Given the description of an element on the screen output the (x, y) to click on. 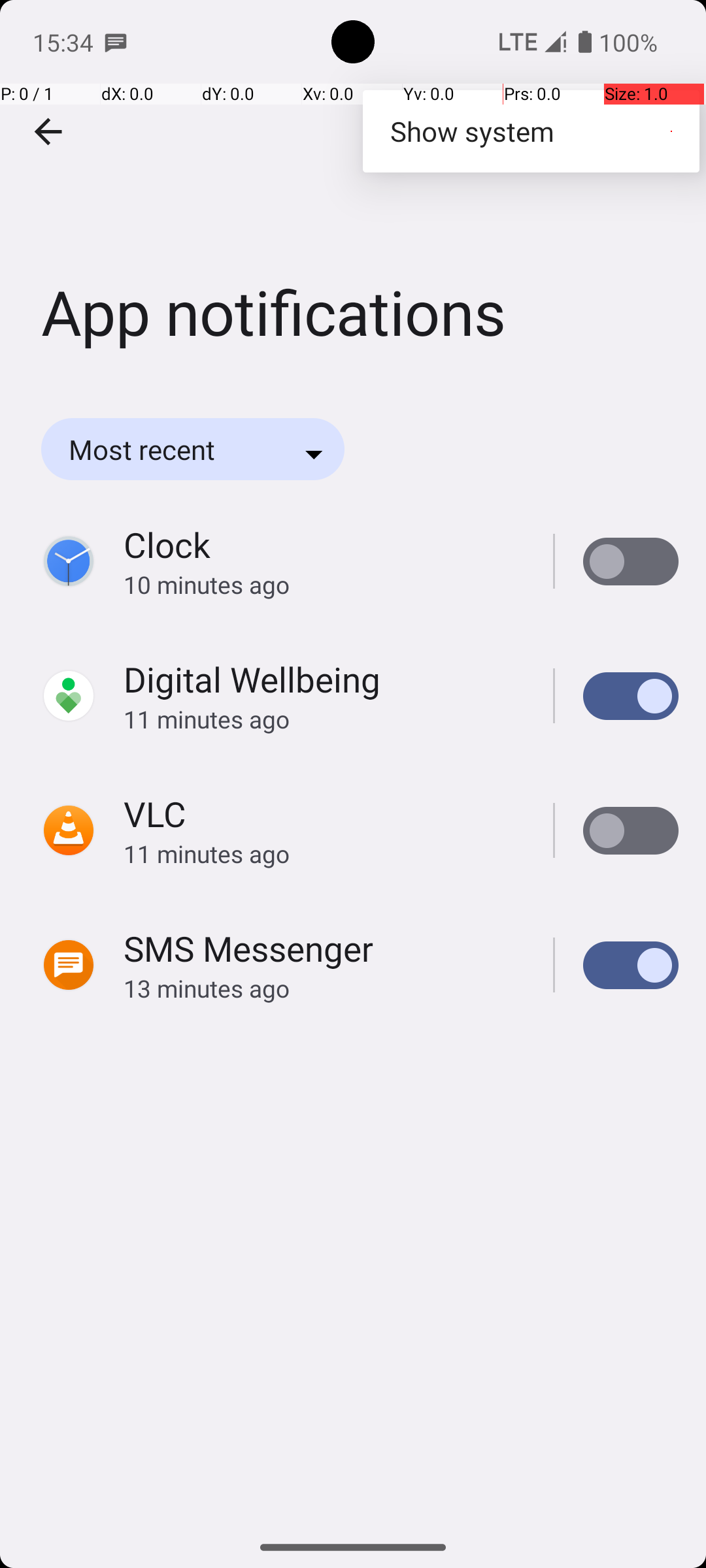
Show system Element type: android.widget.TextView (531, 130)
